Given the description of an element on the screen output the (x, y) to click on. 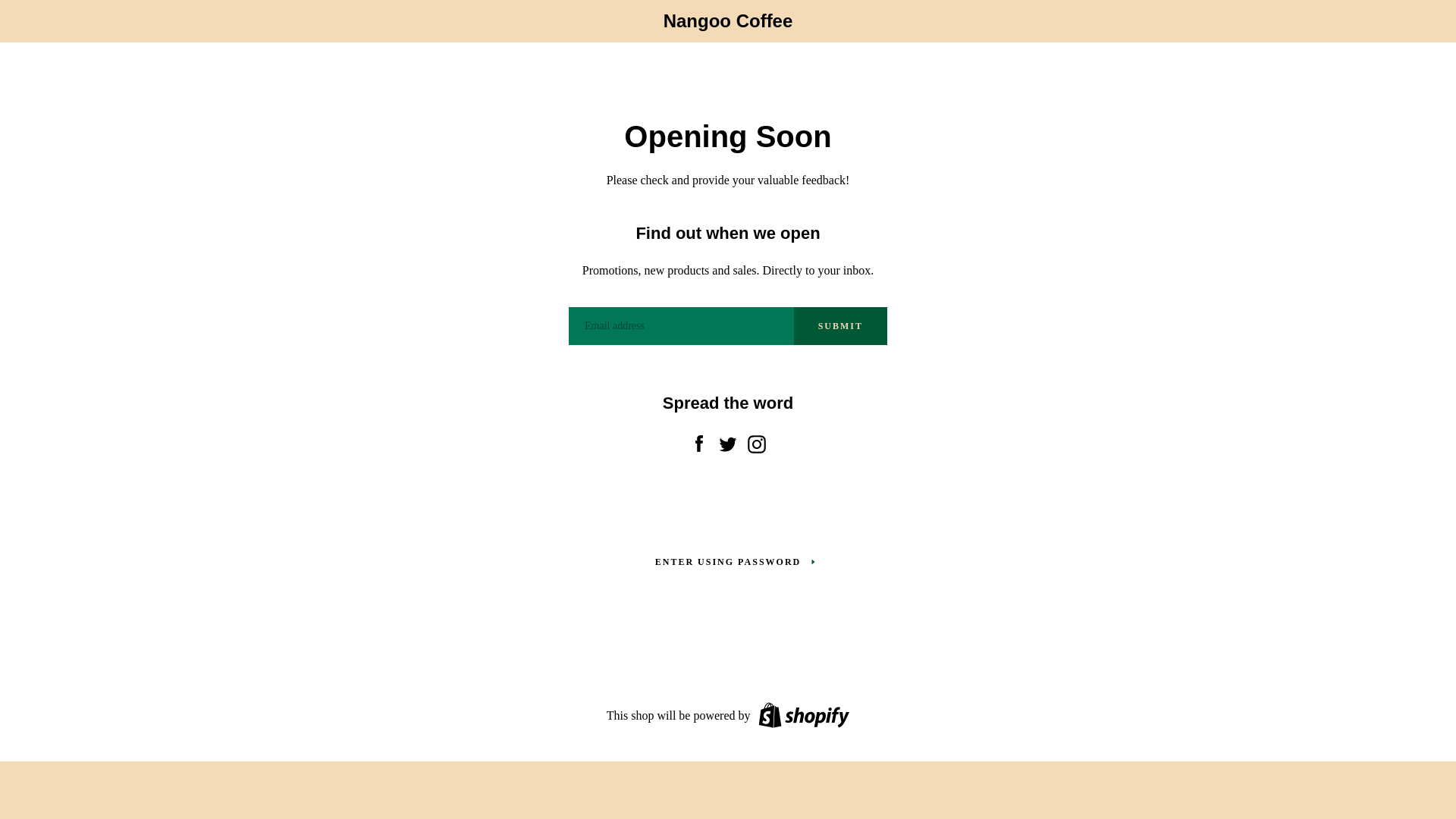
Twitter (727, 440)
Nangoo Coffee on Instagram (756, 440)
Instagram (756, 440)
Facebook (698, 440)
SUBMIT (839, 325)
Nangoo Coffee on Facebook (698, 440)
ENTER USING PASSWORD (727, 561)
Nangoo Coffee on Twitter (727, 440)
Shopify (802, 715)
Create your own online store with Shopify (802, 715)
